Given the description of an element on the screen output the (x, y) to click on. 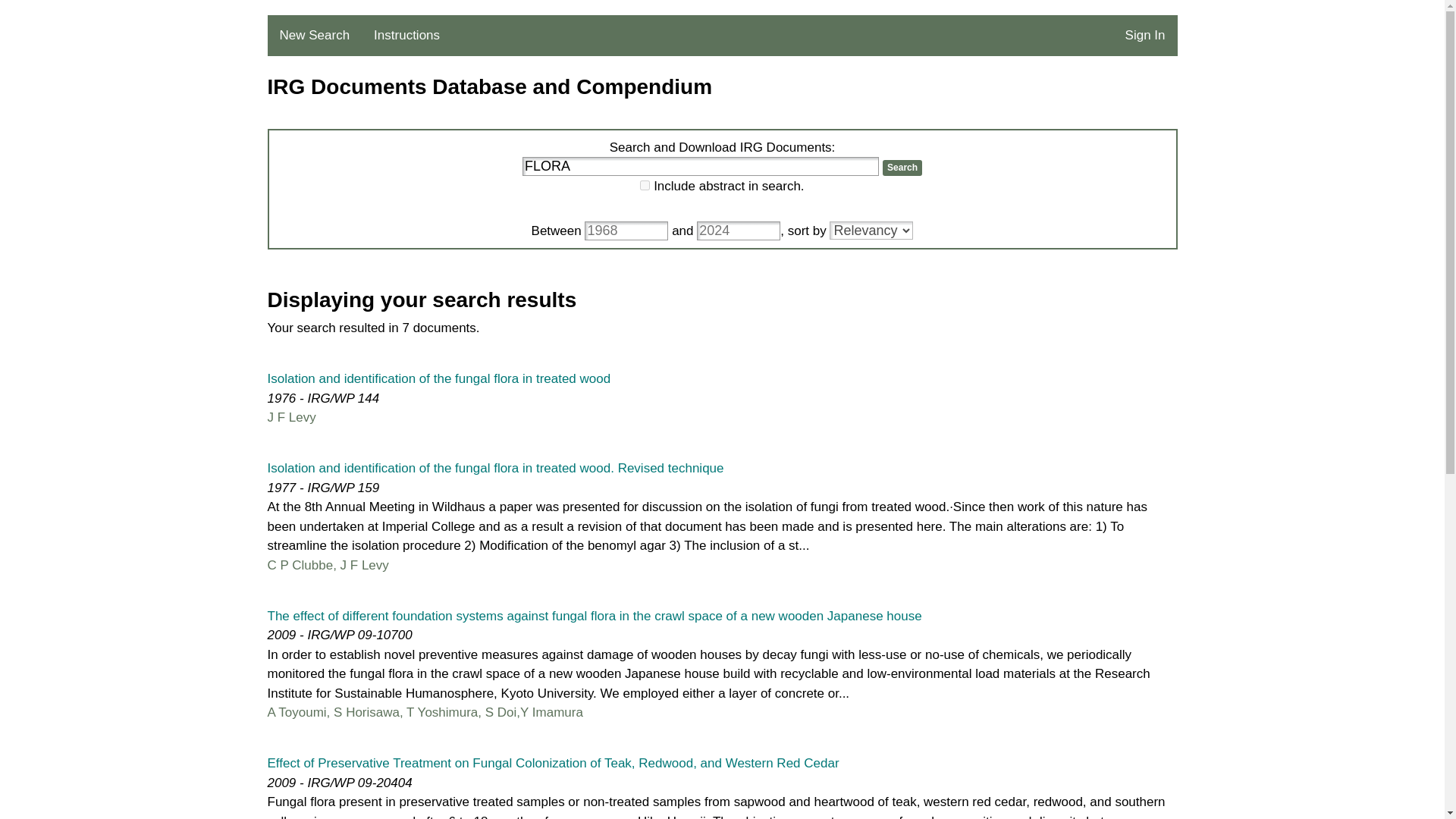
Click for more information about document. (438, 378)
Click for more information about document. (593, 615)
Sign In (1145, 35)
Search (901, 166)
FLORA (700, 166)
yes (644, 185)
New Search (313, 35)
FLORA (700, 166)
Instructions (406, 35)
Click for more information about document. (494, 468)
Search (901, 166)
